Given the description of an element on the screen output the (x, y) to click on. 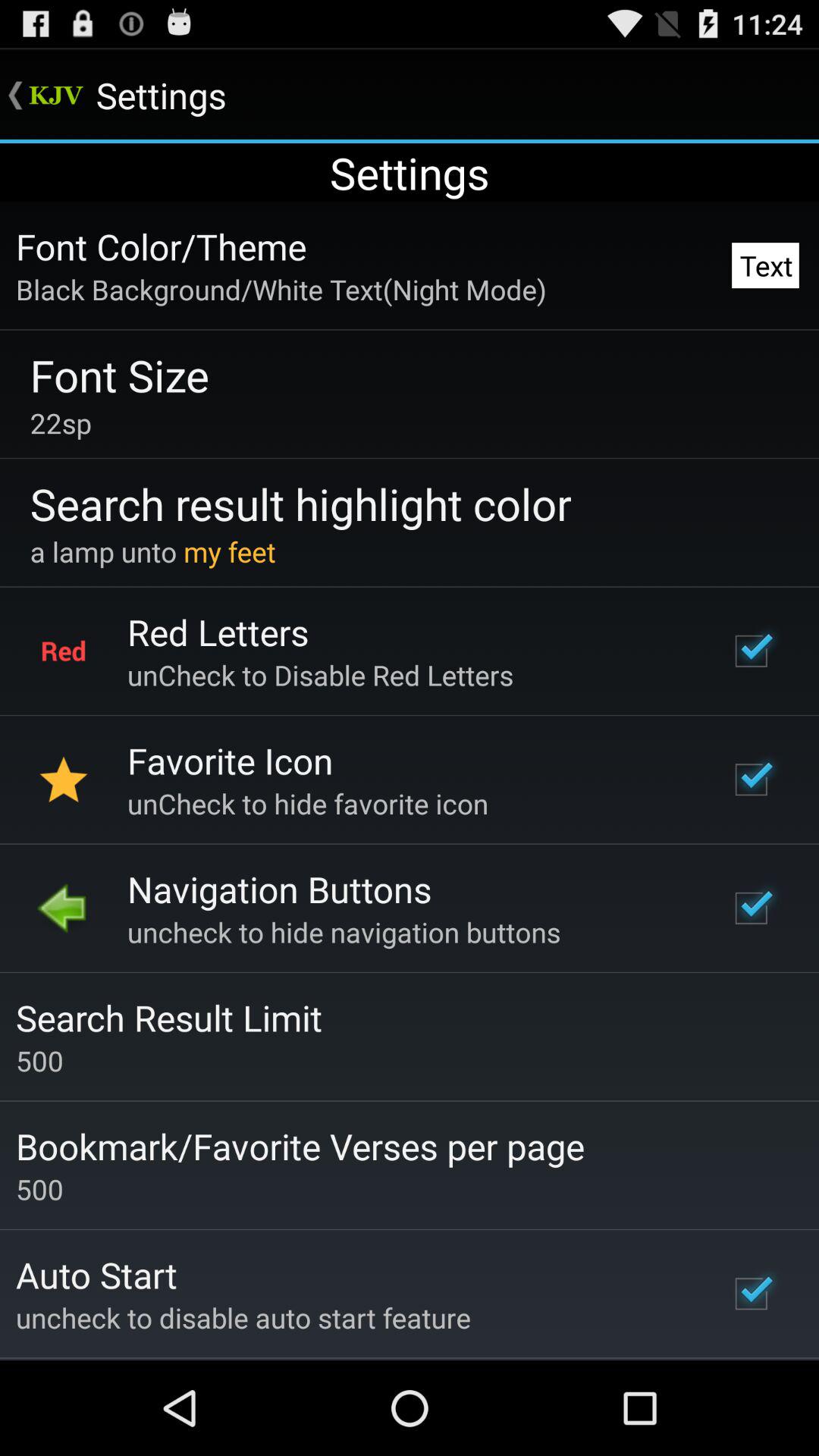
select black background white (280, 289)
